Given the description of an element on the screen output the (x, y) to click on. 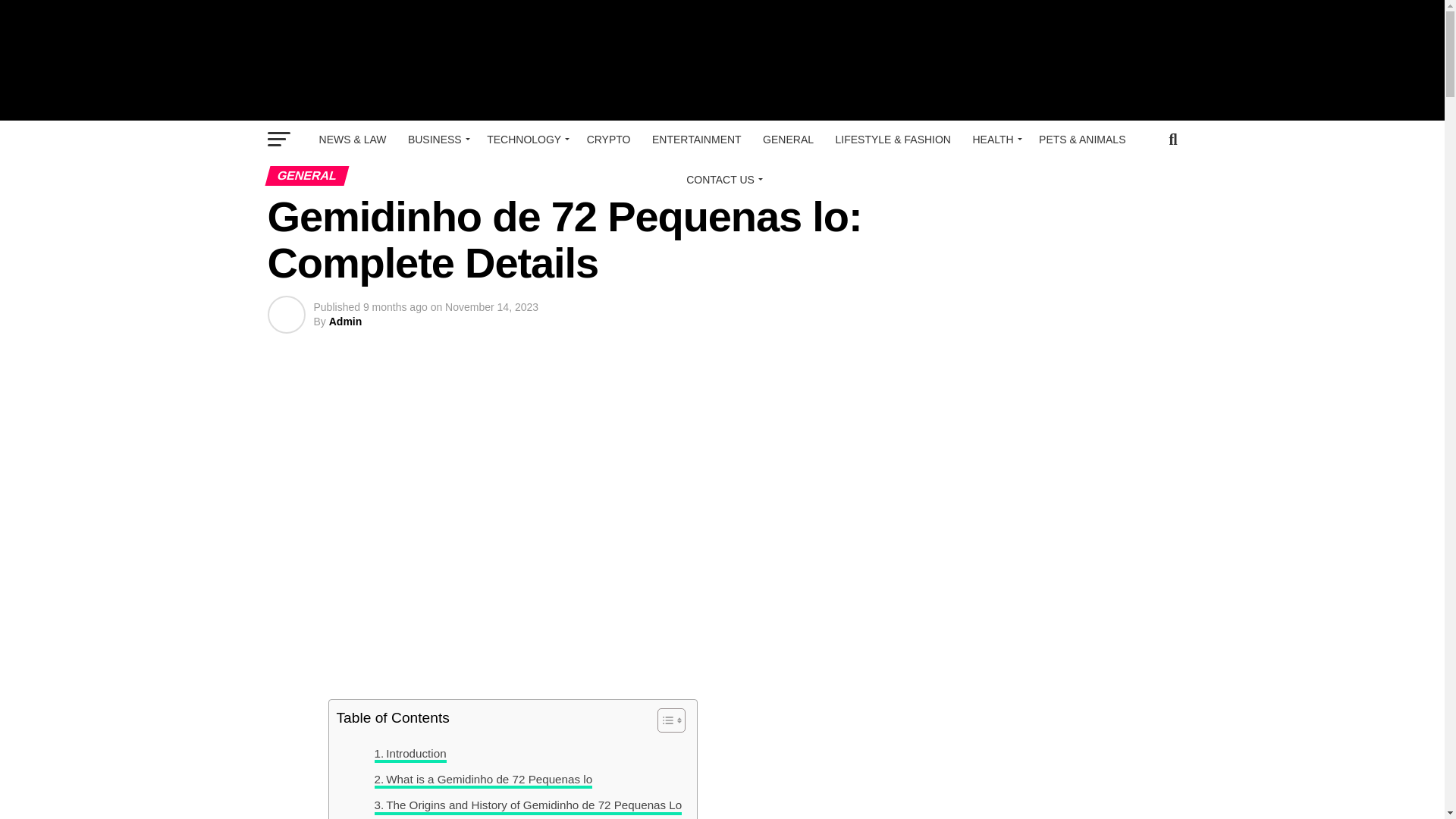
The Origins and History of Gemidinho de 72 Pequenas Lo (528, 805)
BUSINESS (436, 139)
What is a Gemidinho de 72 Pequenas lo (483, 779)
Posts by Admin (345, 321)
TECHNOLOGY (525, 139)
Introduction (410, 753)
